Given the description of an element on the screen output the (x, y) to click on. 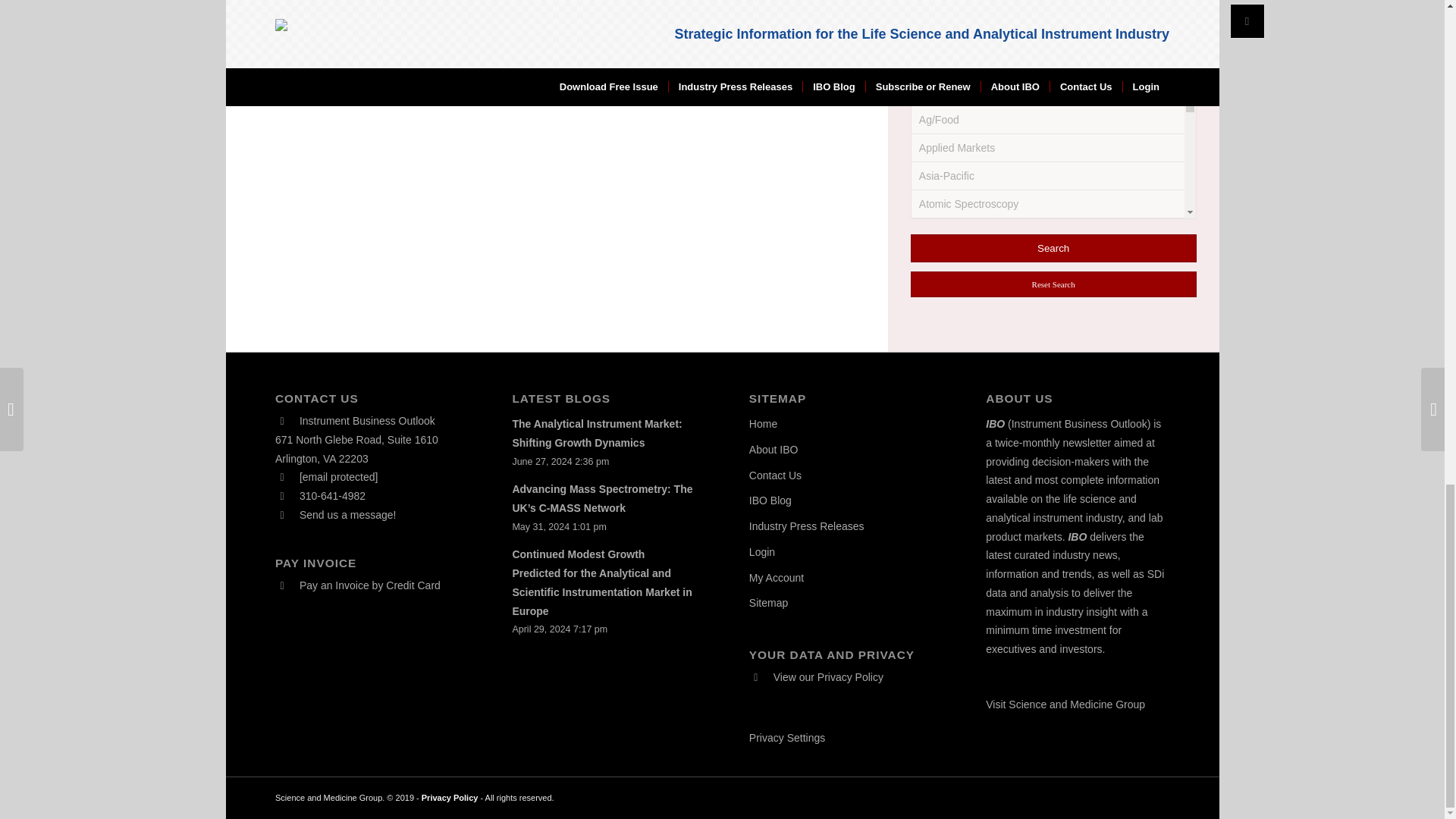
The Analytical Instrument Market: Shifting Growth Dynamics (596, 432)
general-laboratory-productsconsumableslife-sciencegene-based (929, 331)
general-laboratory-productsconsumables (929, 166)
chromatography-and-mass-spectrometryroutine-ms (929, 38)
general-laboratory-products (938, 135)
